Given the description of an element on the screen output the (x, y) to click on. 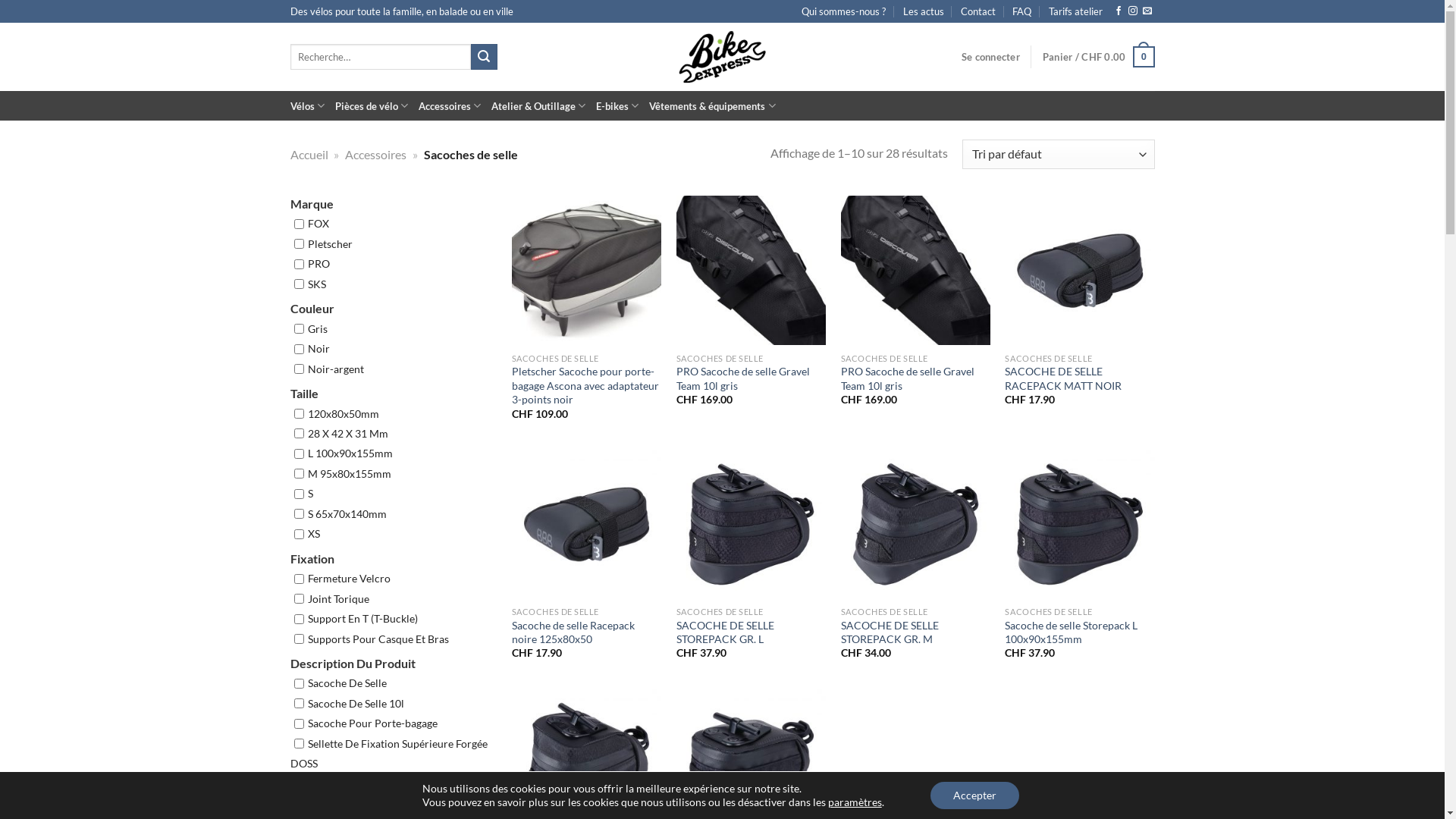
SACOCHE DE SELLE RACEPACK MATT NOIR Element type: hover (1079, 270)
Panier / CHF 0.00
0 Element type: text (1098, 56)
FAQ Element type: text (1021, 11)
PRO Sacoche de selle Gravel Team 10l gris Element type: hover (915, 270)
Nous envoyer un email Element type: hover (1146, 11)
Qui sommes-nous ? Element type: text (843, 11)
Les actus Element type: text (923, 11)
PRO Sacoche de selle Gravel Team 10l gris Element type: text (915, 378)
Se connecter Element type: text (990, 56)
SACOCHE DE SELLE STOREPACK GR. L Element type: hover (750, 524)
PRO Sacoche de selle Gravel Team 10l gris Element type: hover (750, 270)
SACOCHE DE SELLE STOREPACK GR. M Element type: text (915, 632)
Accepter Element type: text (974, 795)
Recherche Element type: text (483, 56)
Sacoche de selle Racepack noire 125x80x50 Element type: hover (586, 524)
Skip to content Element type: text (0, 0)
Sacoche de selle Storepack L 100x90x155mm Element type: text (1079, 632)
SACOCHE DE SELLE STOREPACK GR. M Element type: hover (915, 524)
PRO Sacoche de selle Gravel Team 10l gris Element type: text (750, 378)
Accessoires Element type: text (449, 105)
Sacoche de selle Racepack noire 125x80x50 Element type: text (586, 632)
SACOCHE DE SELLE RACEPACK MATT NOIR Element type: text (1079, 378)
Nous suivre sur Facebook Element type: hover (1118, 11)
Contact Element type: text (977, 11)
Accessoires Element type: text (375, 154)
SACOCHE DE SELLE STOREPACK GR. L Element type: text (750, 632)
Atelier & Outillage Element type: text (538, 105)
Sacoche de selle Storepack L 100x90x155mm Element type: hover (1079, 524)
Nous suivre sur Instagram Element type: hover (1132, 11)
Accueil Element type: text (308, 154)
Tarifs atelier Element type: text (1075, 11)
E-bikes Element type: text (617, 105)
